Given the description of an element on the screen output the (x, y) to click on. 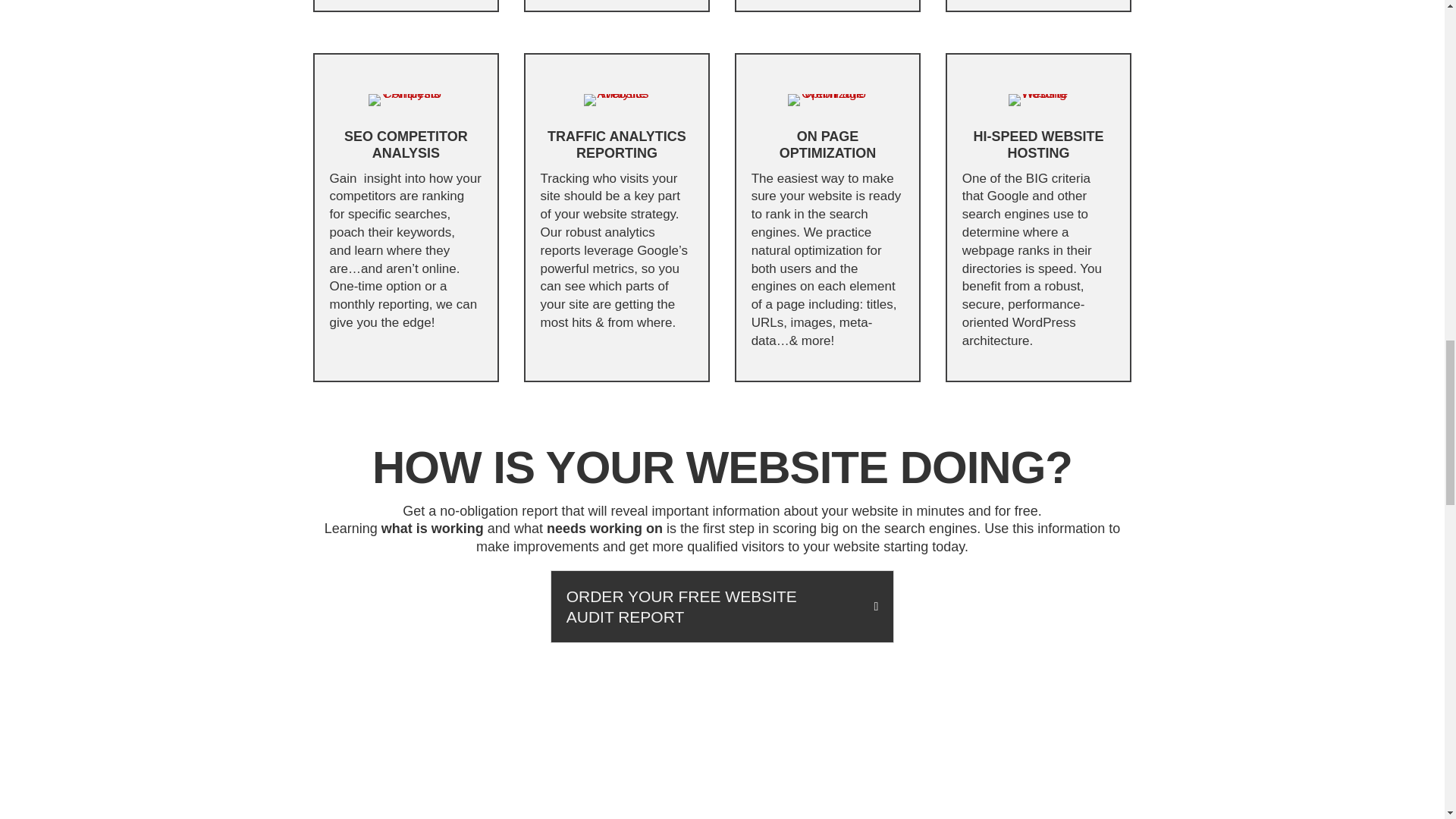
SEO COMPETITOR ANALYSIS (405, 144)
